Given the description of an element on the screen output the (x, y) to click on. 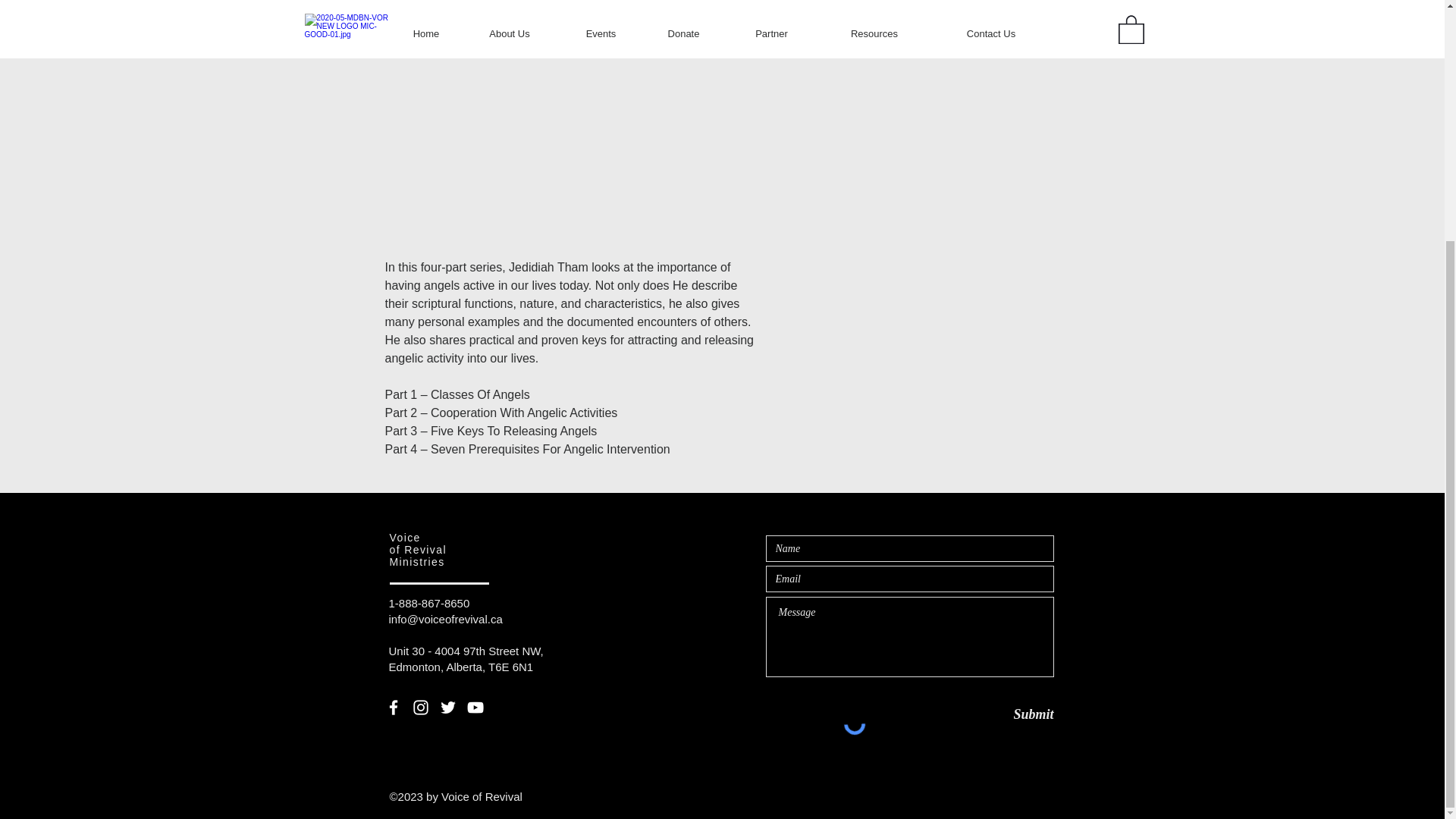
Submit (1000, 714)
